Given the description of an element on the screen output the (x, y) to click on. 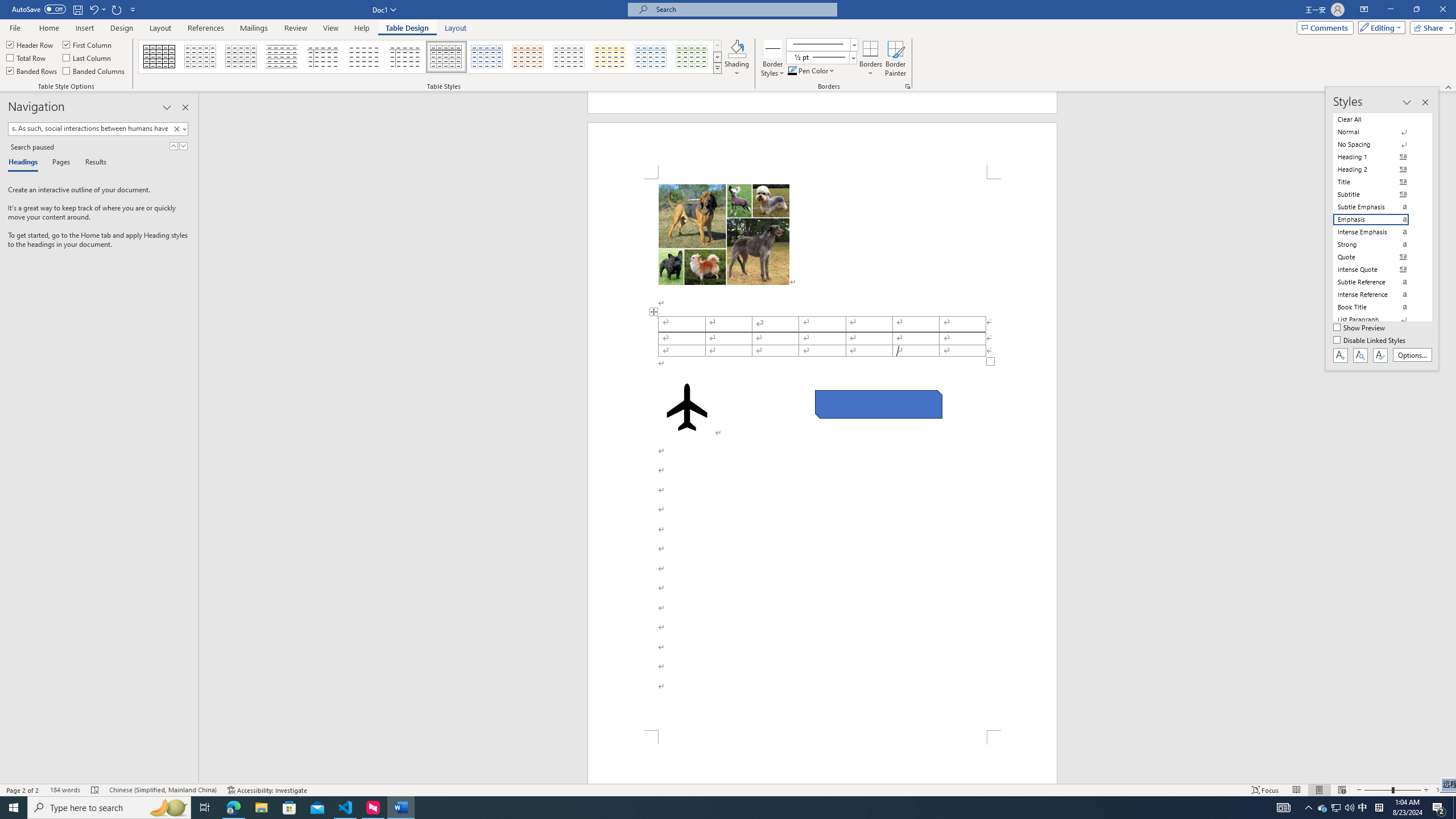
Clear (178, 128)
Clear All (1377, 119)
Emphasis (1377, 219)
Plain Table 3 (322, 56)
Undo Style (92, 9)
Undo Style (96, 9)
Border Styles (773, 48)
Plain Table 2 (282, 56)
AutomationID: TableStylesGalleryWord (430, 56)
